Given the description of an element on the screen output the (x, y) to click on. 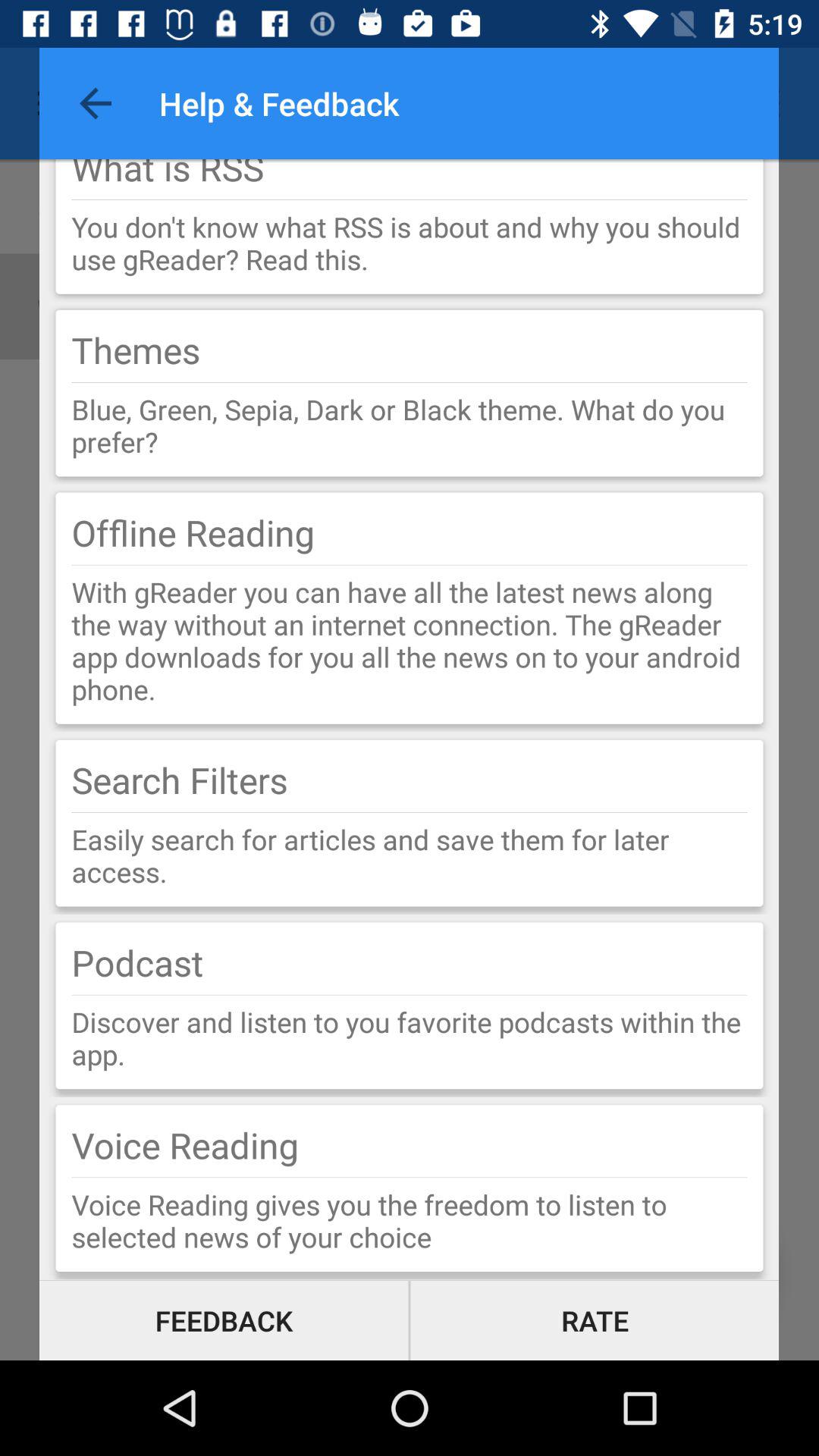
turn on the item above the themes item (409, 243)
